Given the description of an element on the screen output the (x, y) to click on. 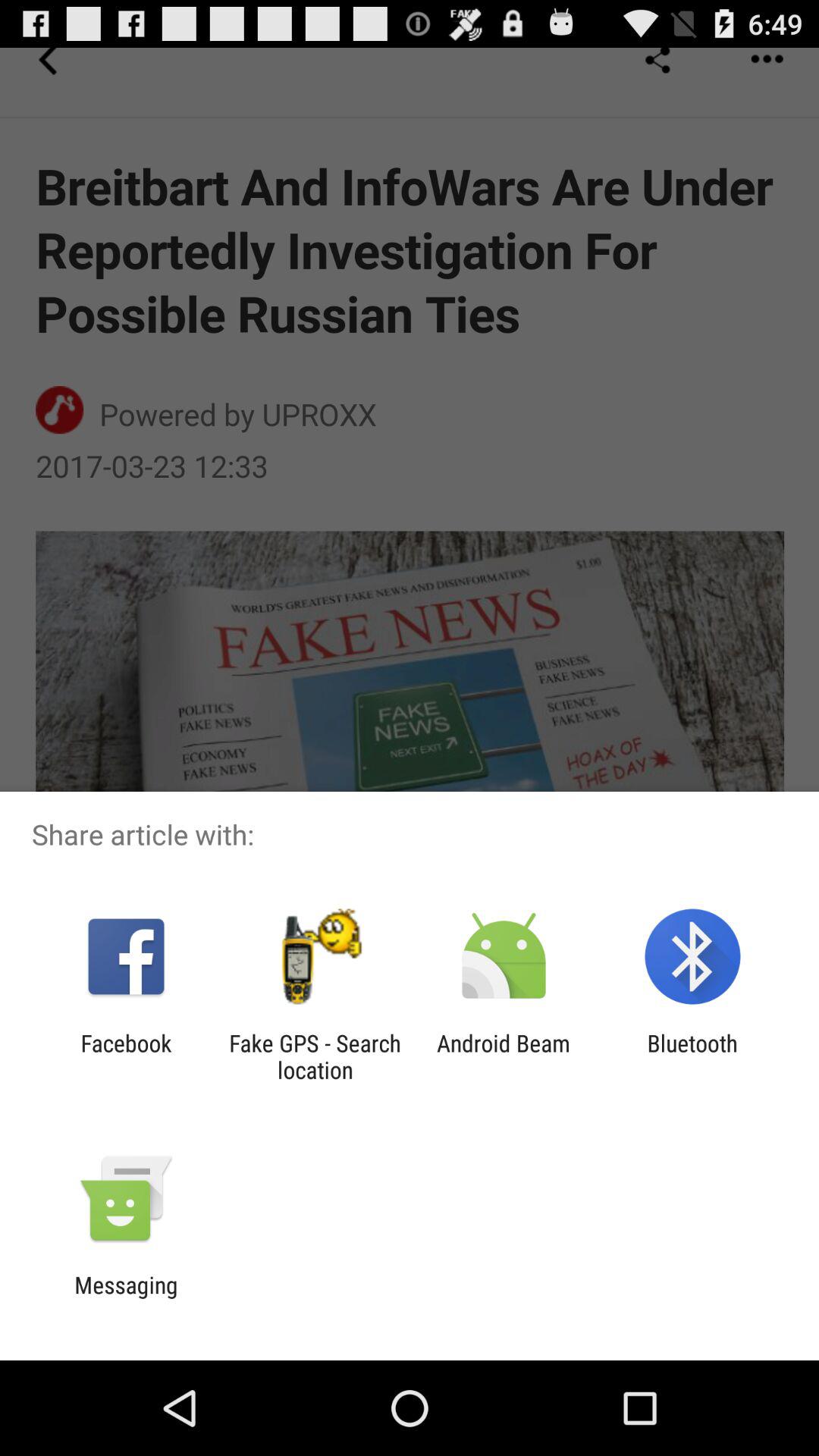
tap icon next to the bluetooth item (503, 1056)
